Given the description of an element on the screen output the (x, y) to click on. 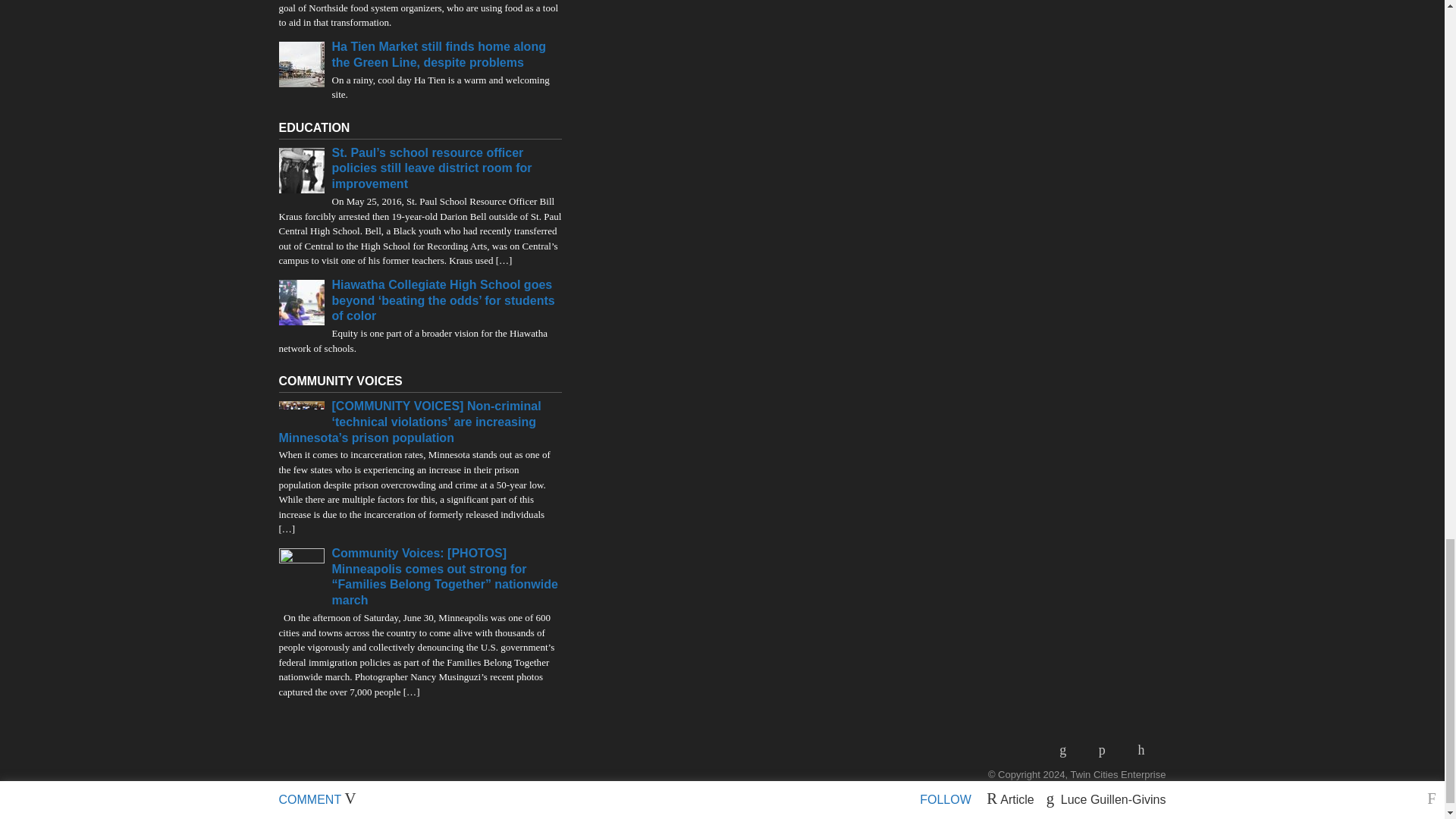
Link to Facebook Profile (1106, 749)
Link to Twitter Page (1146, 749)
Link to RSS Feed (1067, 749)
